Given the description of an element on the screen output the (x, y) to click on. 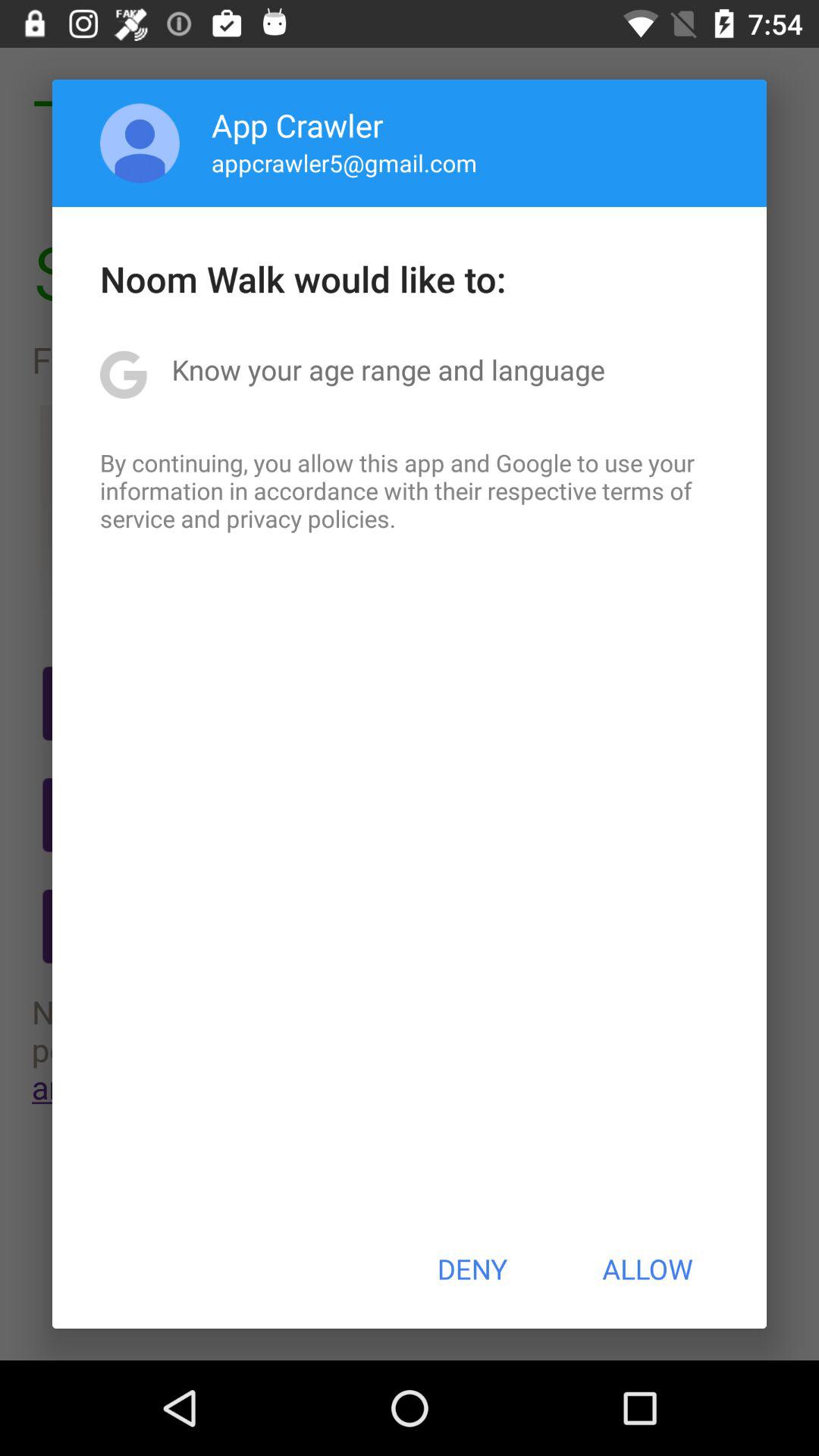
press item next to app crawler item (139, 143)
